Given the description of an element on the screen output the (x, y) to click on. 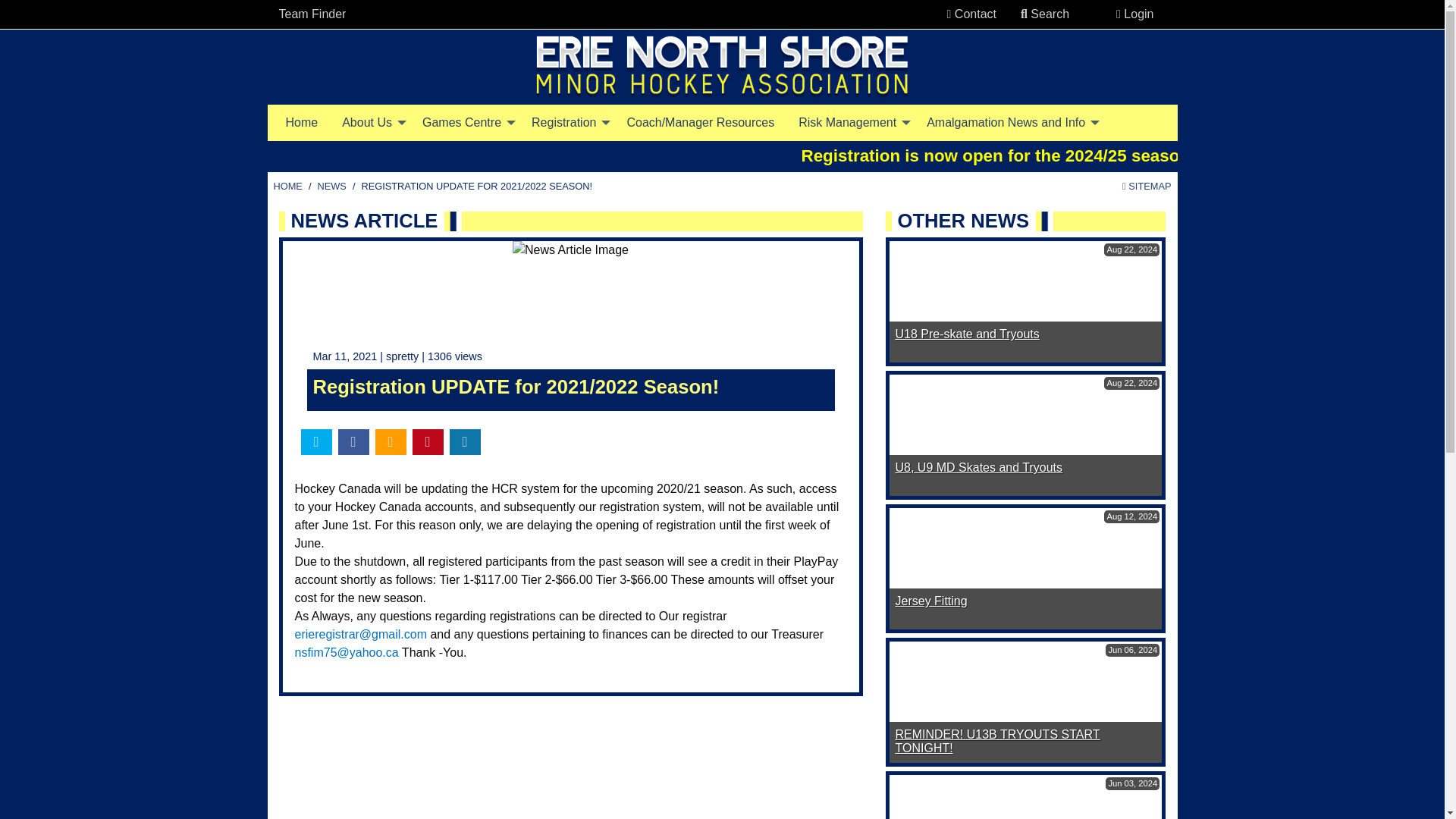
About Us (370, 122)
Team Finder (312, 13)
Risk Management (850, 122)
List of News (331, 185)
read more of this item (978, 467)
 Contact (971, 14)
read more of this item (967, 333)
 Search (1045, 14)
Home (301, 122)
 Login (1134, 14)
